Given the description of an element on the screen output the (x, y) to click on. 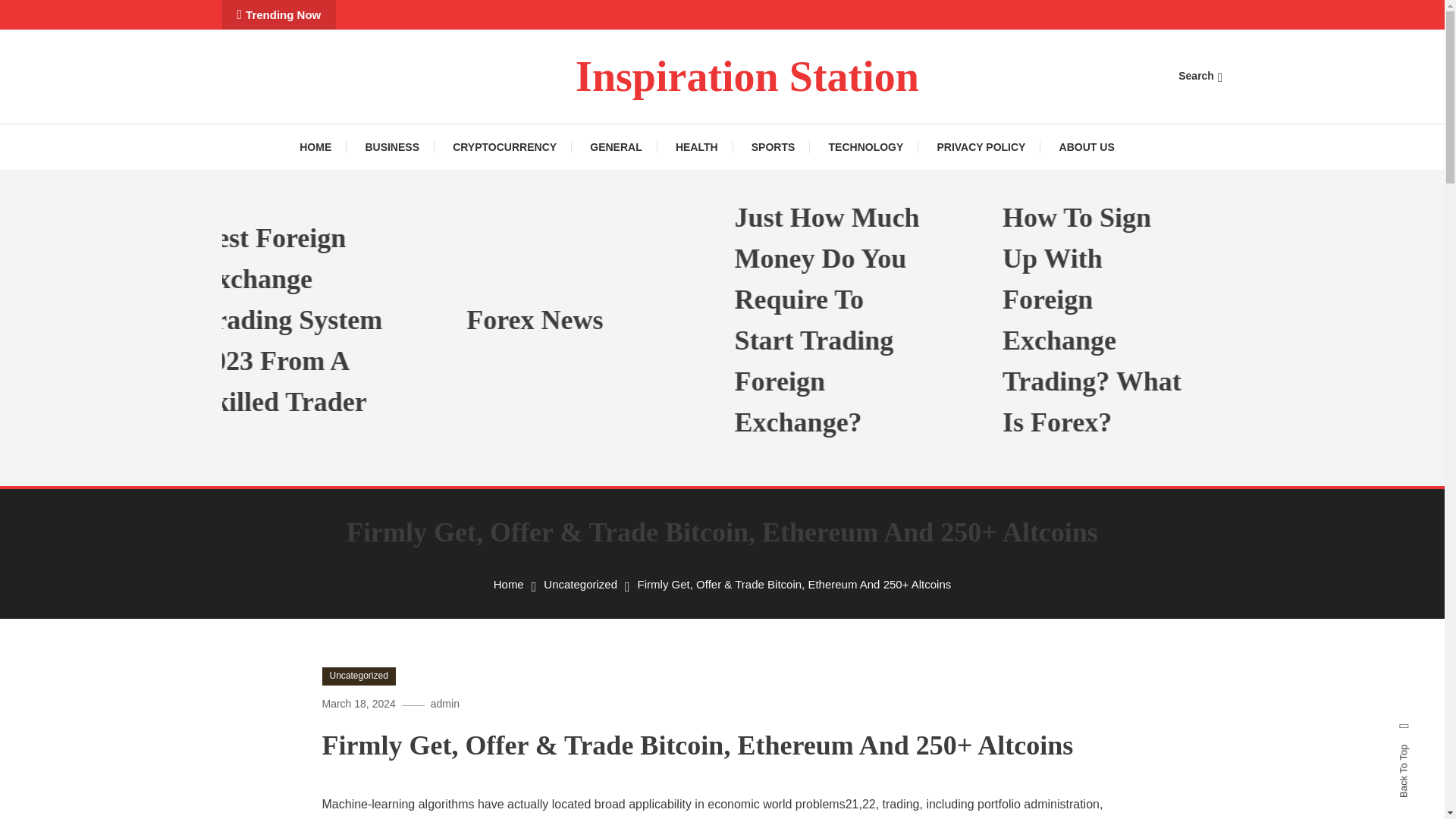
BUSINESS (391, 146)
PRIVACY POLICY (981, 146)
Search (1200, 75)
Inspiration Station (746, 76)
HOME (322, 146)
ABOUT US (1086, 146)
GENERAL (615, 146)
Search (768, 434)
Forex News (644, 319)
